Given the description of an element on the screen output the (x, y) to click on. 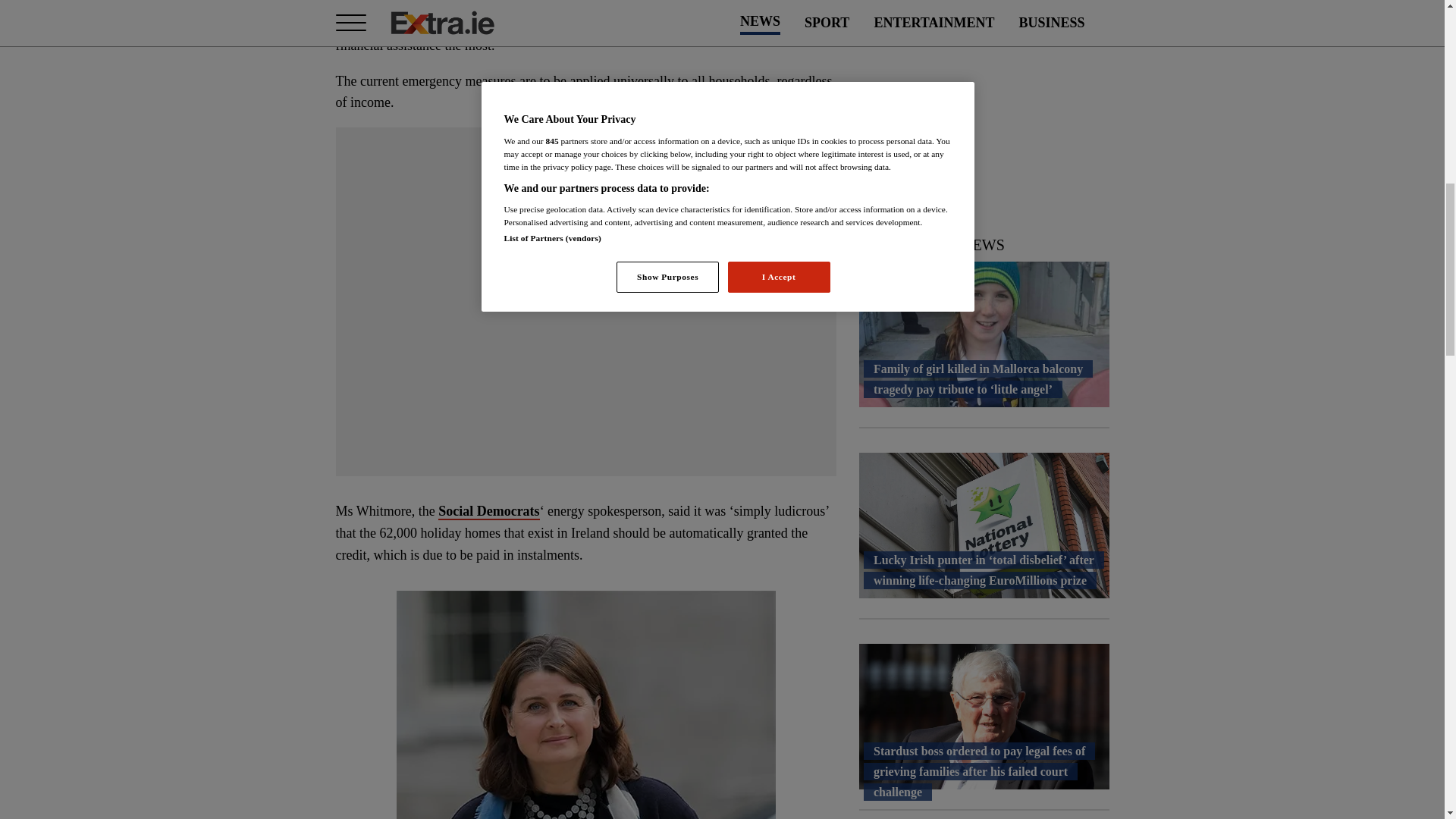
Social Democrats (488, 511)
